Given the description of an element on the screen output the (x, y) to click on. 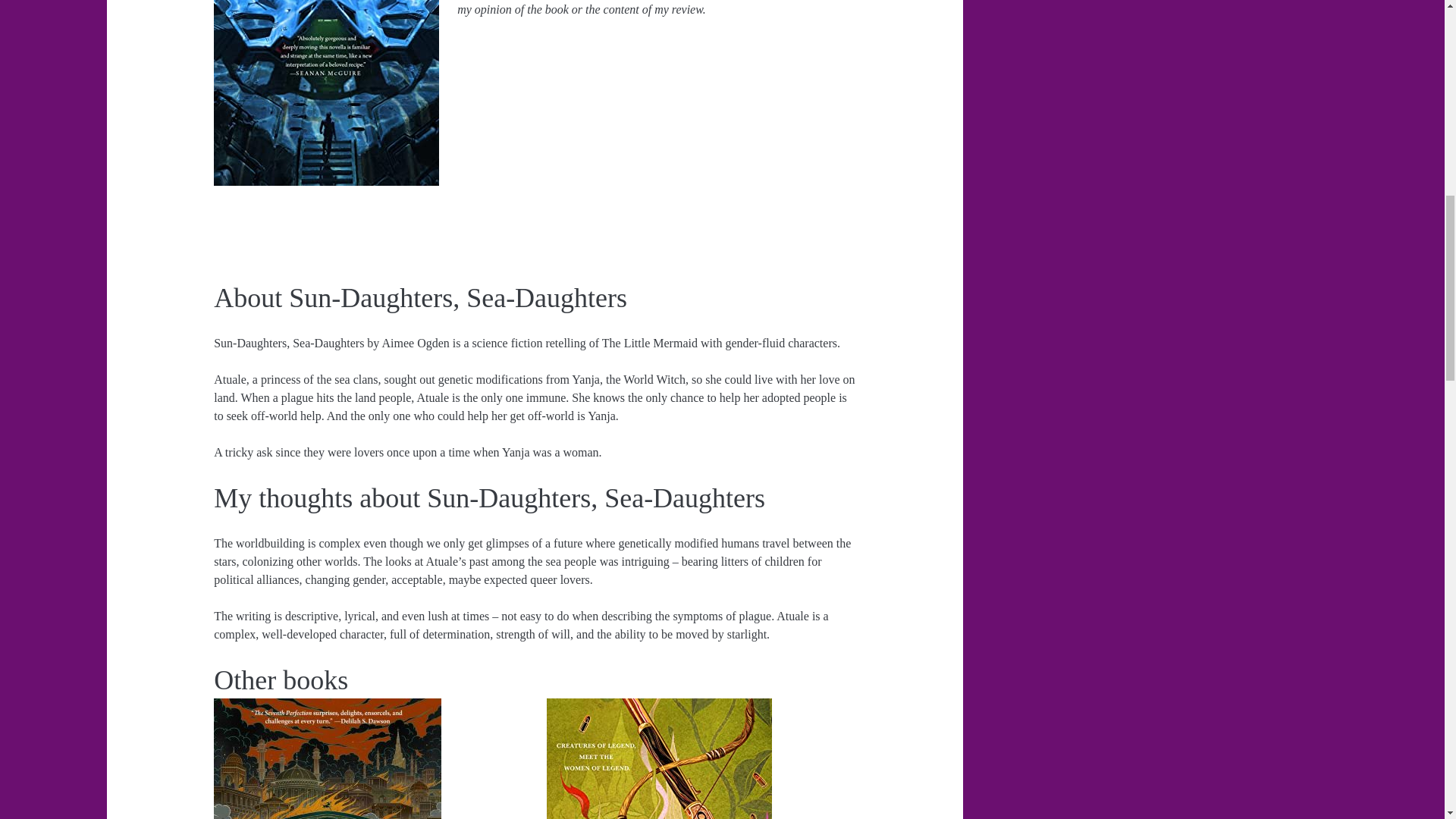
Sun-Daughters, Sea-Daughters (326, 92)
